Given the description of an element on the screen output the (x, y) to click on. 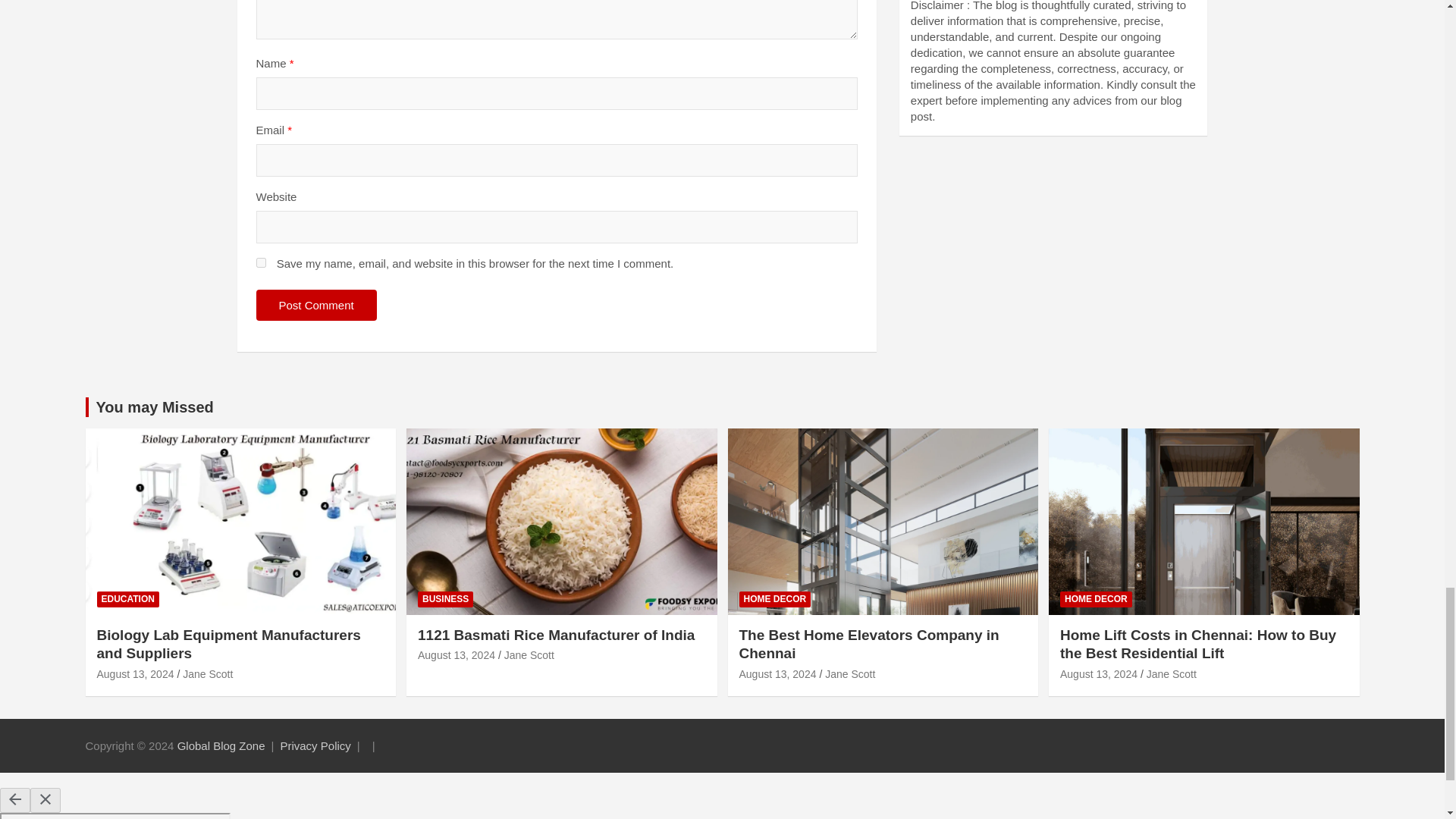
Post Comment (316, 305)
The Best Home Elevators Company in Chennai (776, 674)
yes (261, 262)
Biology Lab Equipment Manufacturers and Suppliers (135, 674)
1121 Basmati Rice Manufacturer of India (456, 654)
Global Blog Zone (220, 745)
